Given the description of an element on the screen output the (x, y) to click on. 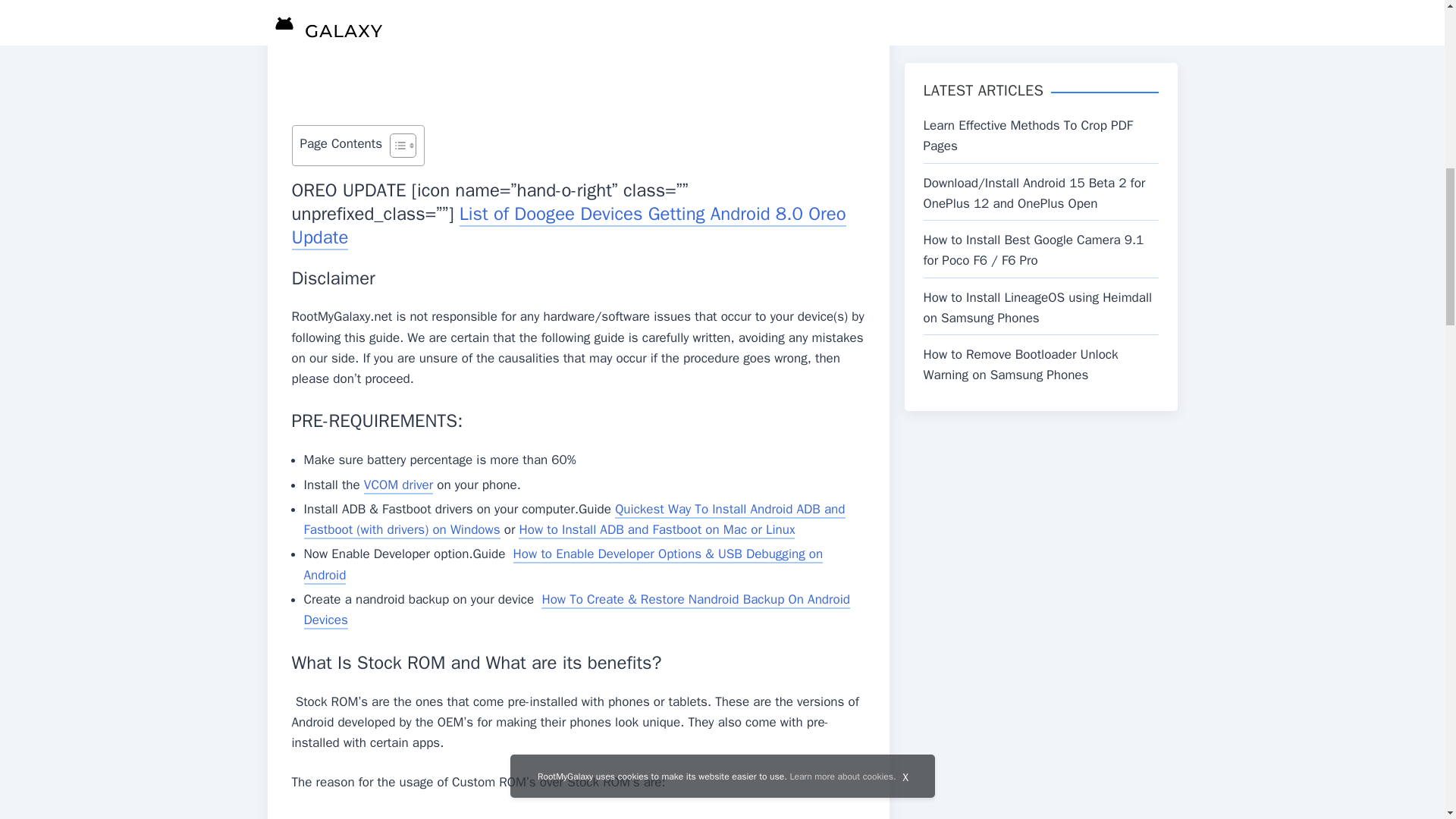
List of Doogee Devices Getting Android 8.0 Oreo Update (568, 226)
Advertisement (577, 58)
VCOM driver (398, 485)
How to Install ADB and Fastboot on Mac or Linux (656, 529)
